Given the description of an element on the screen output the (x, y) to click on. 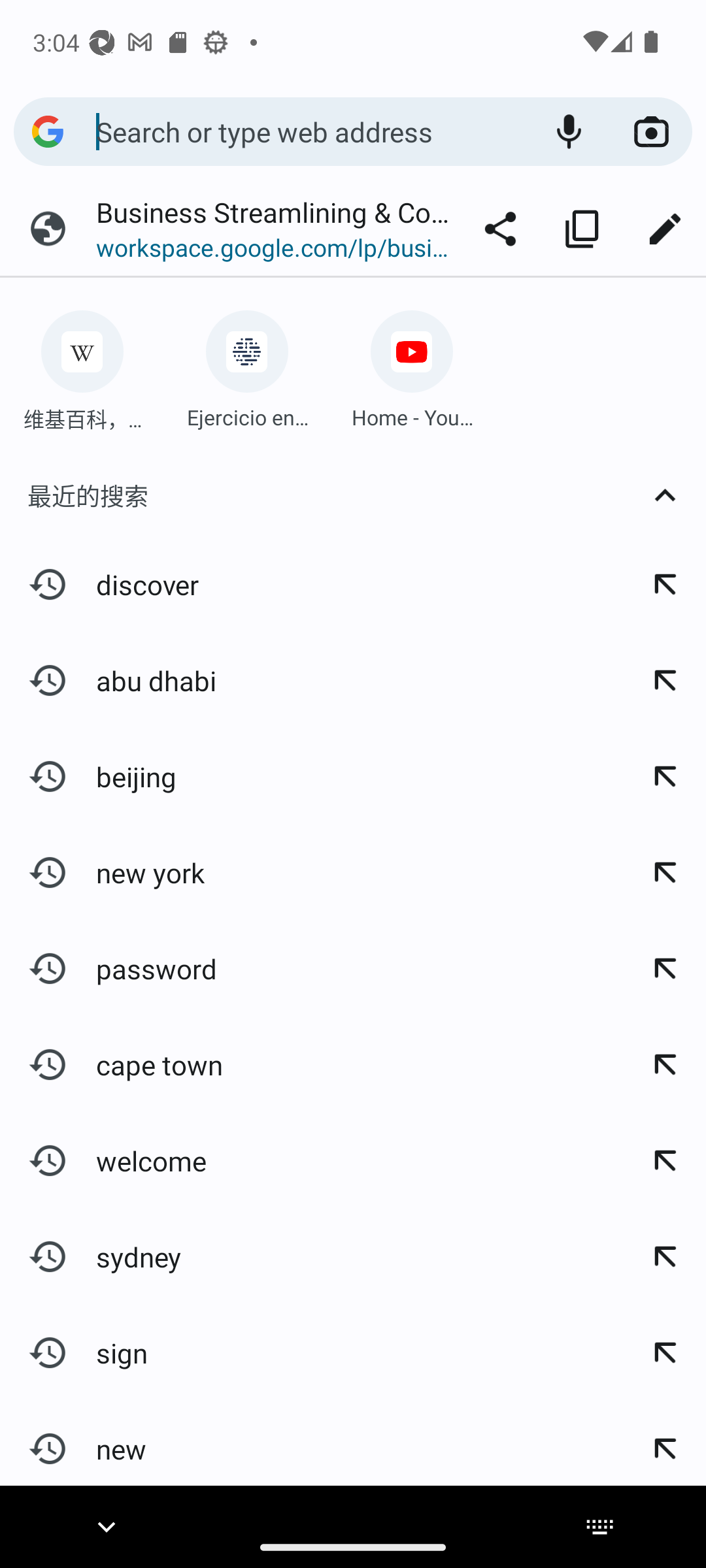
Start voice search (568, 131)
Search with your camera using Google Lens (650, 131)
Search or type web address (311, 131)
Share… (499, 228)
Copy link (582, 228)
Edit (664, 228)
维基百科，自由的百科全书: zh.m.wikipedia.org 维基百科，自由的百科全书 (82, 364)
Home - YouTube: m.youtube.com Home - YouTube (411, 364)
最近的搜索 (353, 495)
discover (311, 583)
Refine: discover (664, 583)
abu dhabi (311, 680)
Refine: abu dhabi (664, 680)
beijing (311, 776)
Refine: beijing (664, 776)
new york (311, 872)
Refine: new york (664, 872)
password (311, 968)
Refine: password (664, 968)
cape town (311, 1064)
Refine: cape town (664, 1064)
welcome (311, 1160)
Refine: welcome (664, 1160)
sydney (311, 1256)
Refine: sydney (664, 1256)
sign (311, 1352)
Refine: sign (664, 1352)
new (311, 1443)
Refine: new (664, 1443)
